Given the description of an element on the screen output the (x, y) to click on. 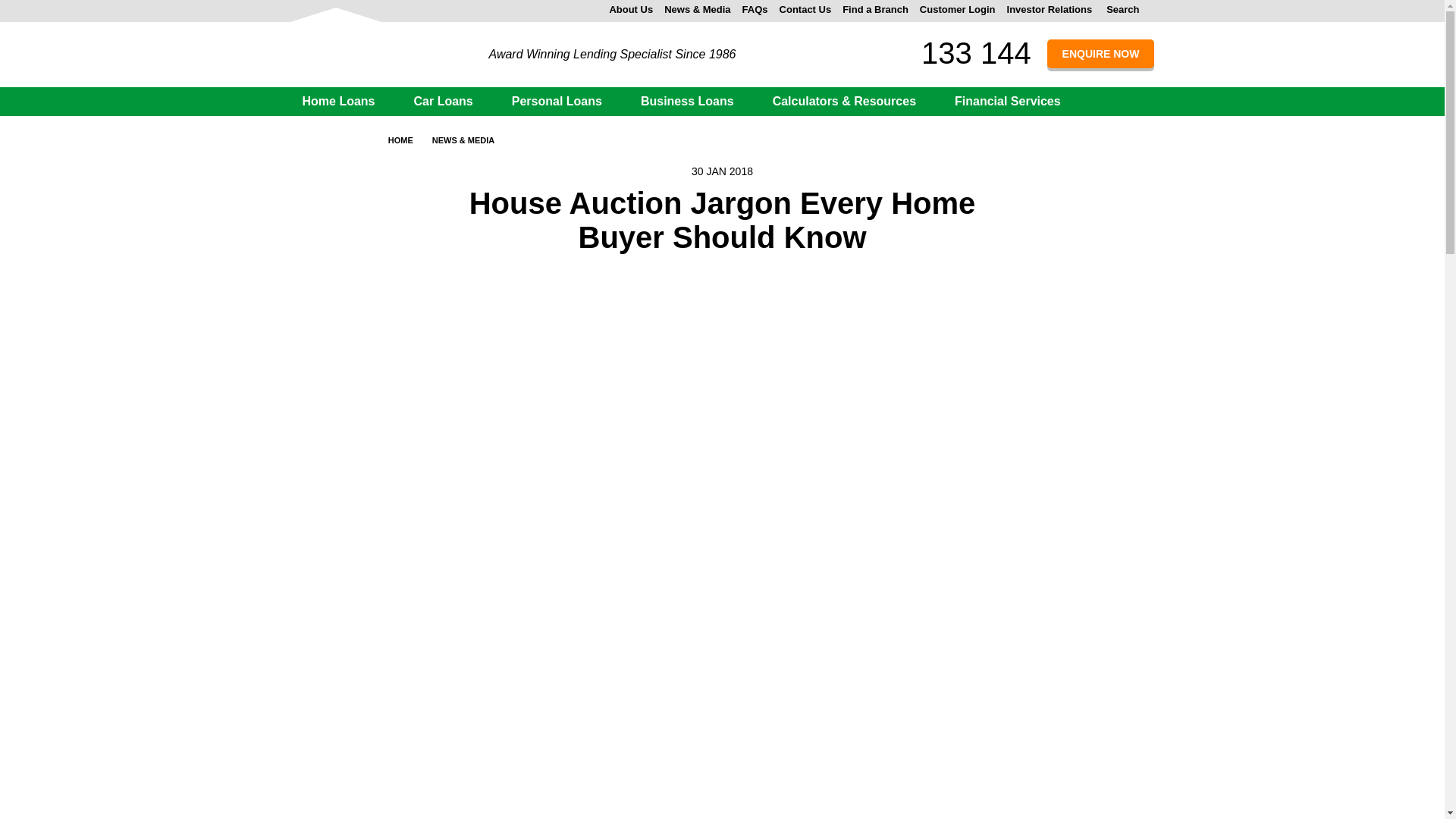
Home Loans (344, 101)
Investor Relations (1050, 9)
FAQs (755, 9)
Customer Login (957, 9)
About Us (630, 9)
Contact Us (804, 9)
Find a Branch (875, 9)
ENQUIRE NOW (1100, 53)
